Given the description of an element on the screen output the (x, y) to click on. 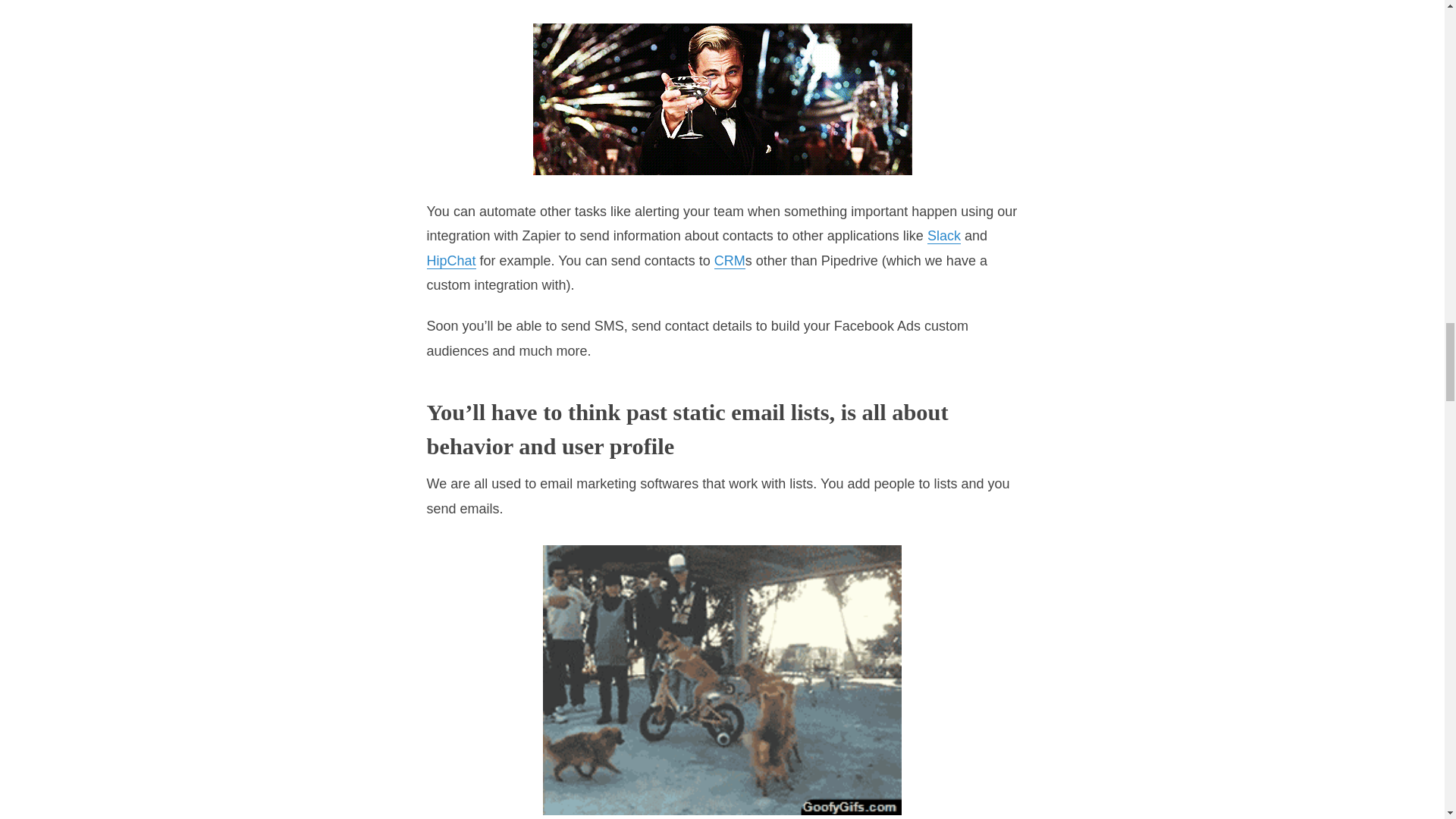
Slack (943, 236)
CRM (729, 261)
HipChat (451, 261)
